Given the description of an element on the screen output the (x, y) to click on. 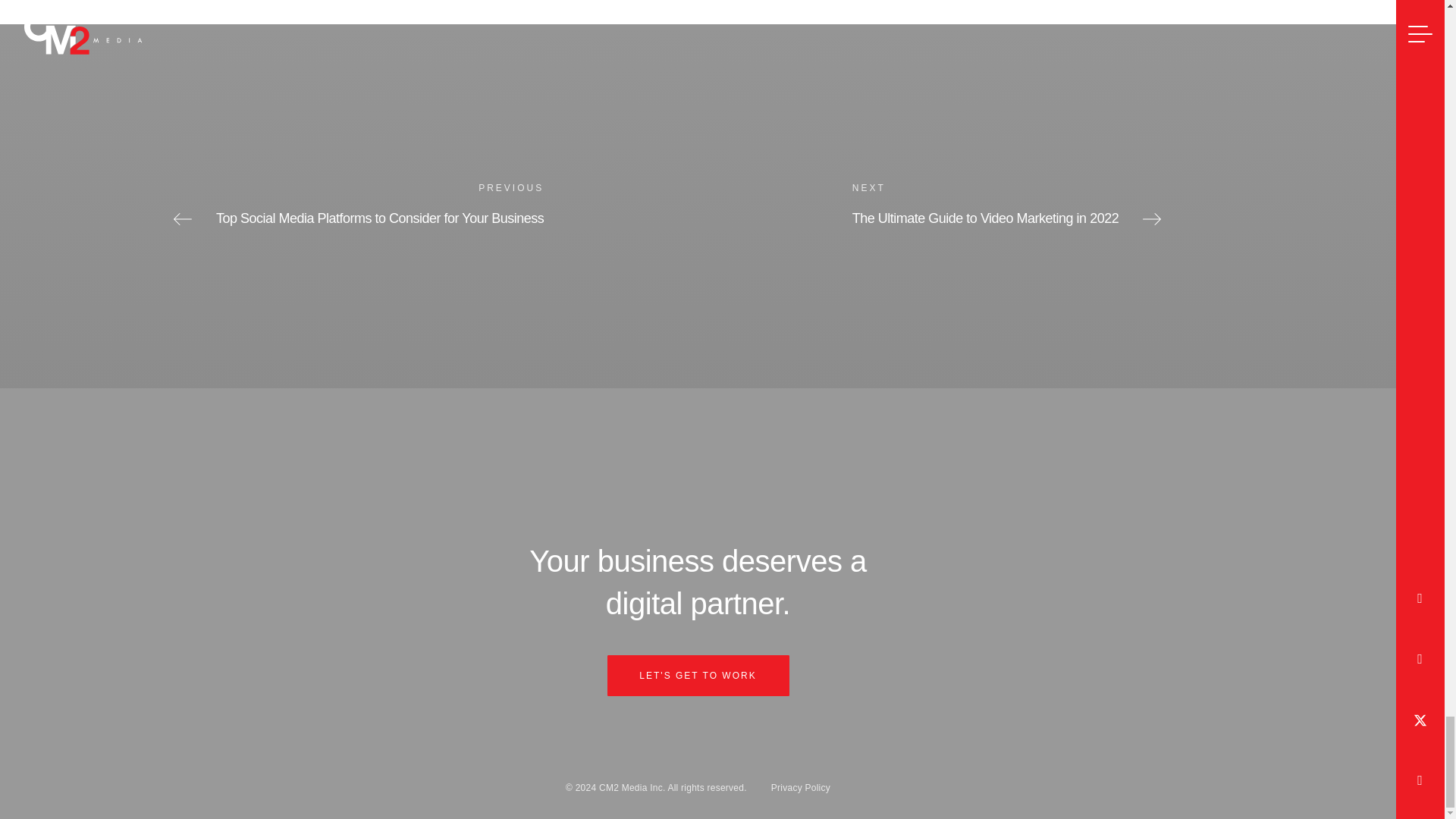
Privacy Policy (698, 675)
